Given the description of an element on the screen output the (x, y) to click on. 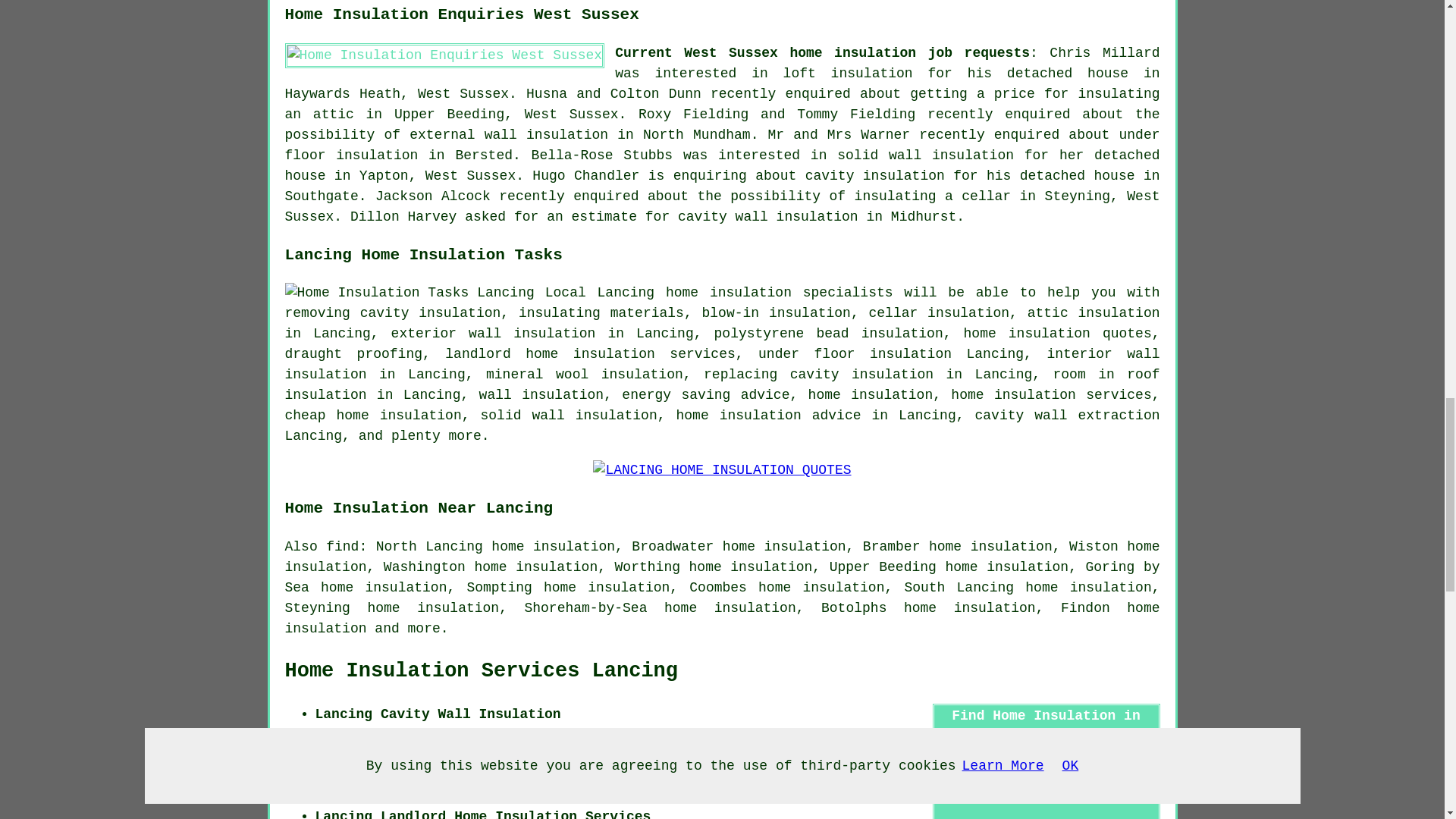
LANCING HOME INSULATION QUOTES (721, 470)
Home Insulation Tasks Lancing (409, 292)
West Sussex Home Insulation Enquiries (445, 54)
